Given the description of an element on the screen output the (x, y) to click on. 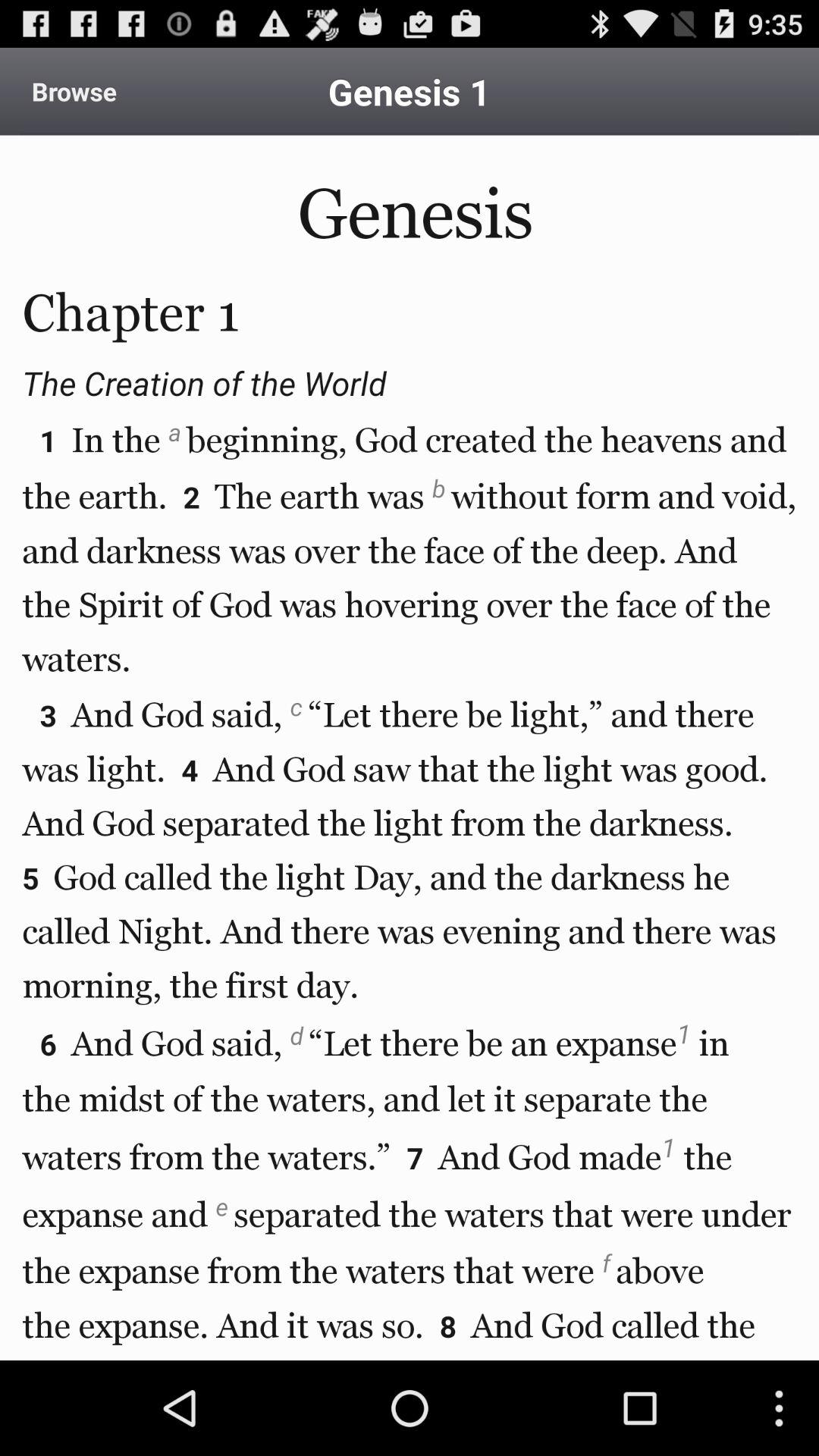
launch icon above the genesis chapter 1 icon (73, 91)
